Given the description of an element on the screen output the (x, y) to click on. 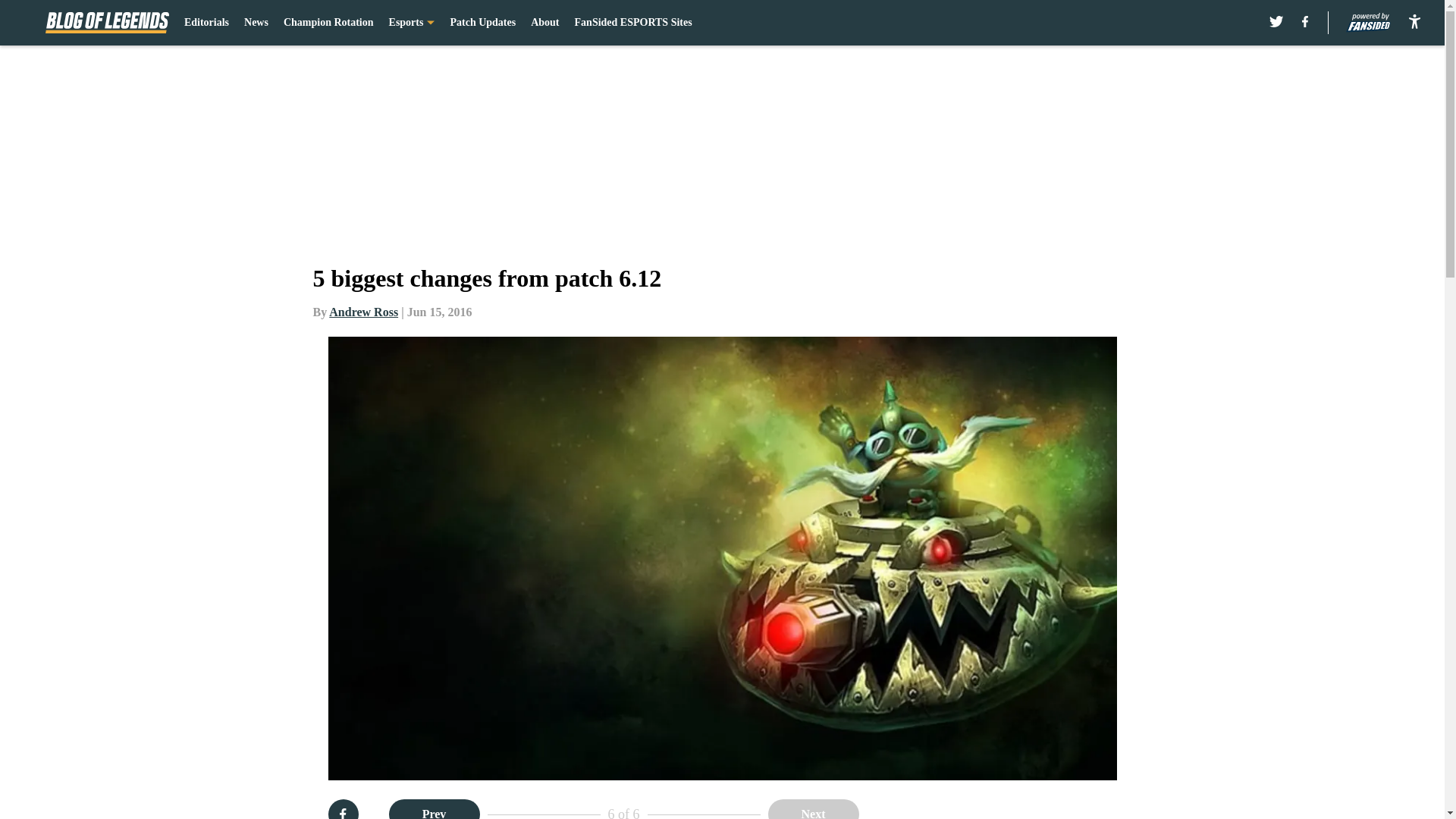
Next (813, 809)
FanSided ESPORTS Sites (634, 22)
Andrew Ross (363, 311)
News (255, 22)
About (545, 22)
Champion Rotation (328, 22)
Prev (433, 809)
Editorials (206, 22)
Patch Updates (482, 22)
